Given the description of an element on the screen output the (x, y) to click on. 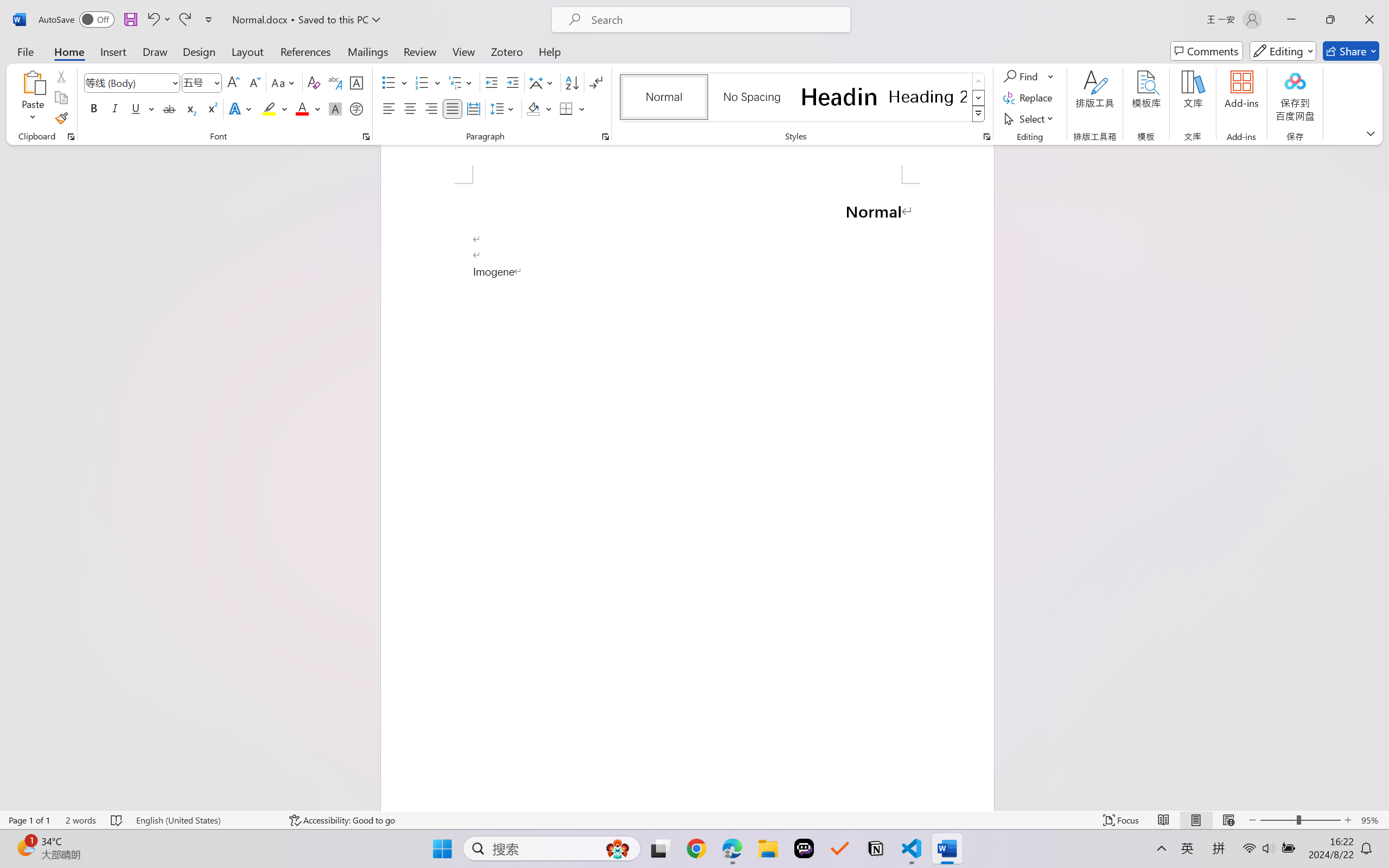
Line and Paragraph Spacing (503, 108)
Enclose Characters... (356, 108)
Mode (1283, 50)
Page Number Page 1 of 1 (29, 819)
Shading RGB(0, 0, 0) (533, 108)
Increase Indent (512, 82)
